Given the description of an element on the screen output the (x, y) to click on. 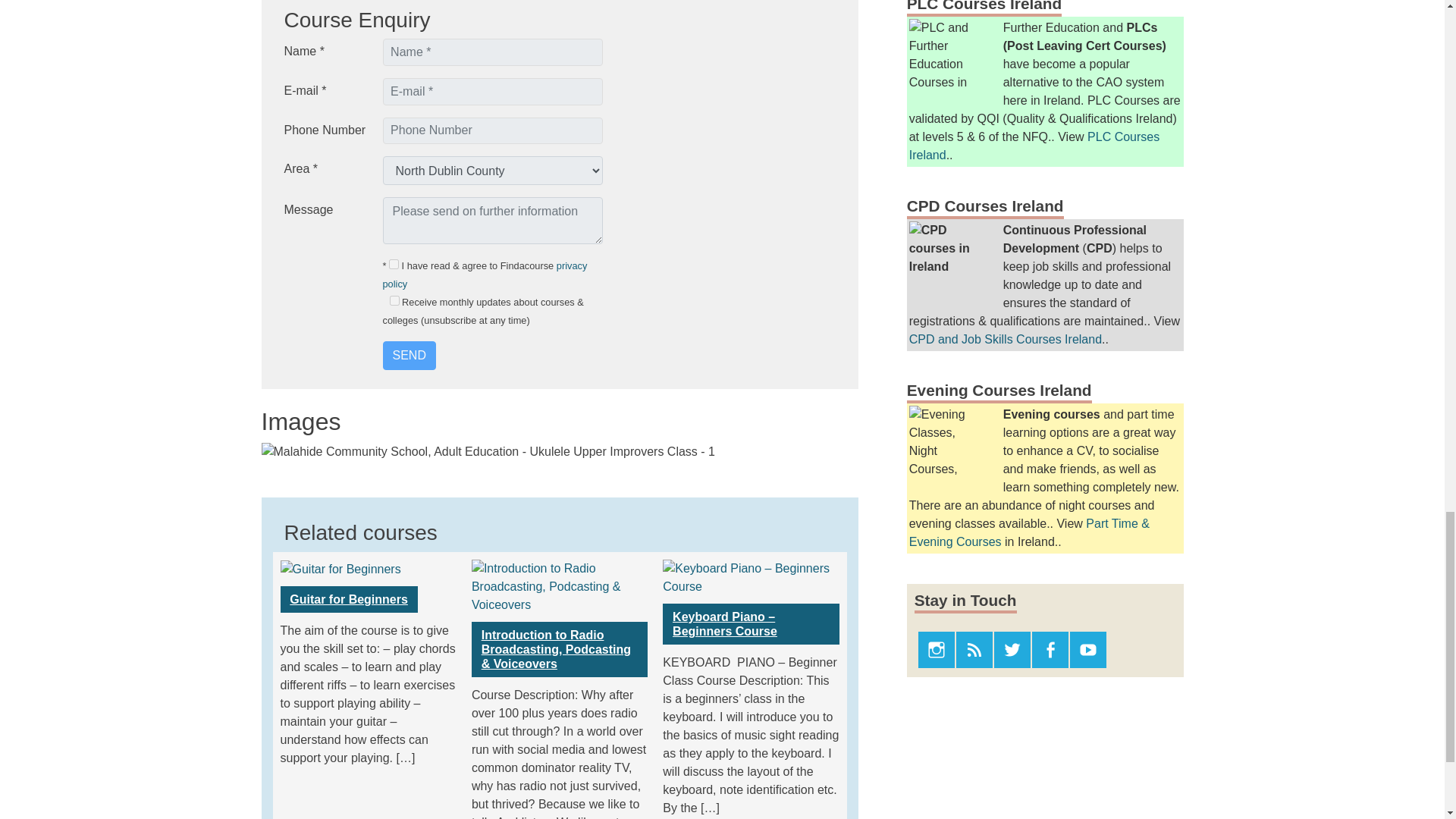
privacy policy (483, 274)
Guitar for Beginners (349, 599)
Guitar for Beginners (341, 567)
on (393, 264)
Guitar for Beginners (349, 599)
on (394, 300)
SEND (408, 355)
